Given the description of an element on the screen output the (x, y) to click on. 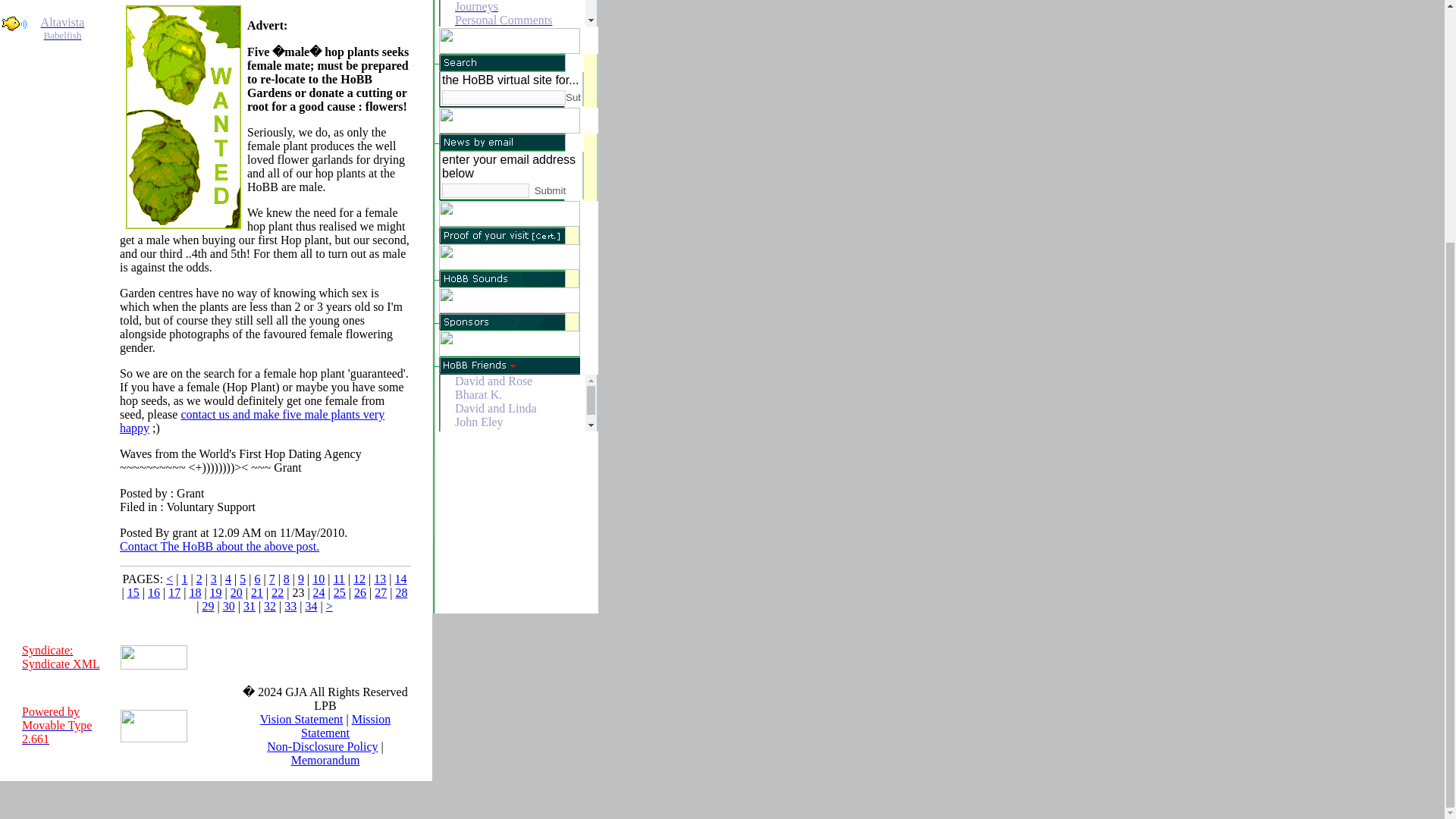
Submit (62, 27)
Submit (556, 190)
